Given the description of an element on the screen output the (x, y) to click on. 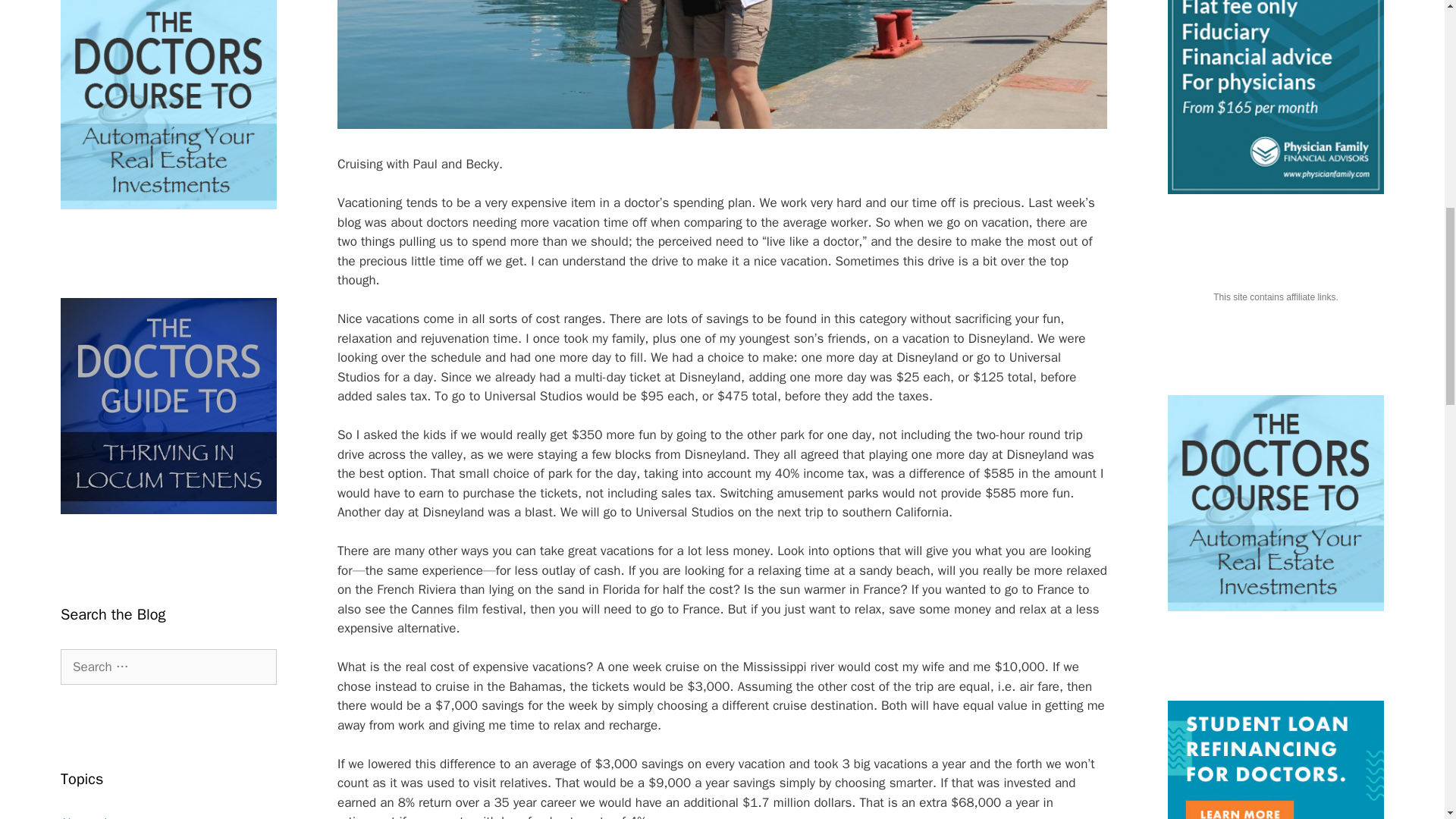
Search for: (168, 667)
